Given the description of an element on the screen output the (x, y) to click on. 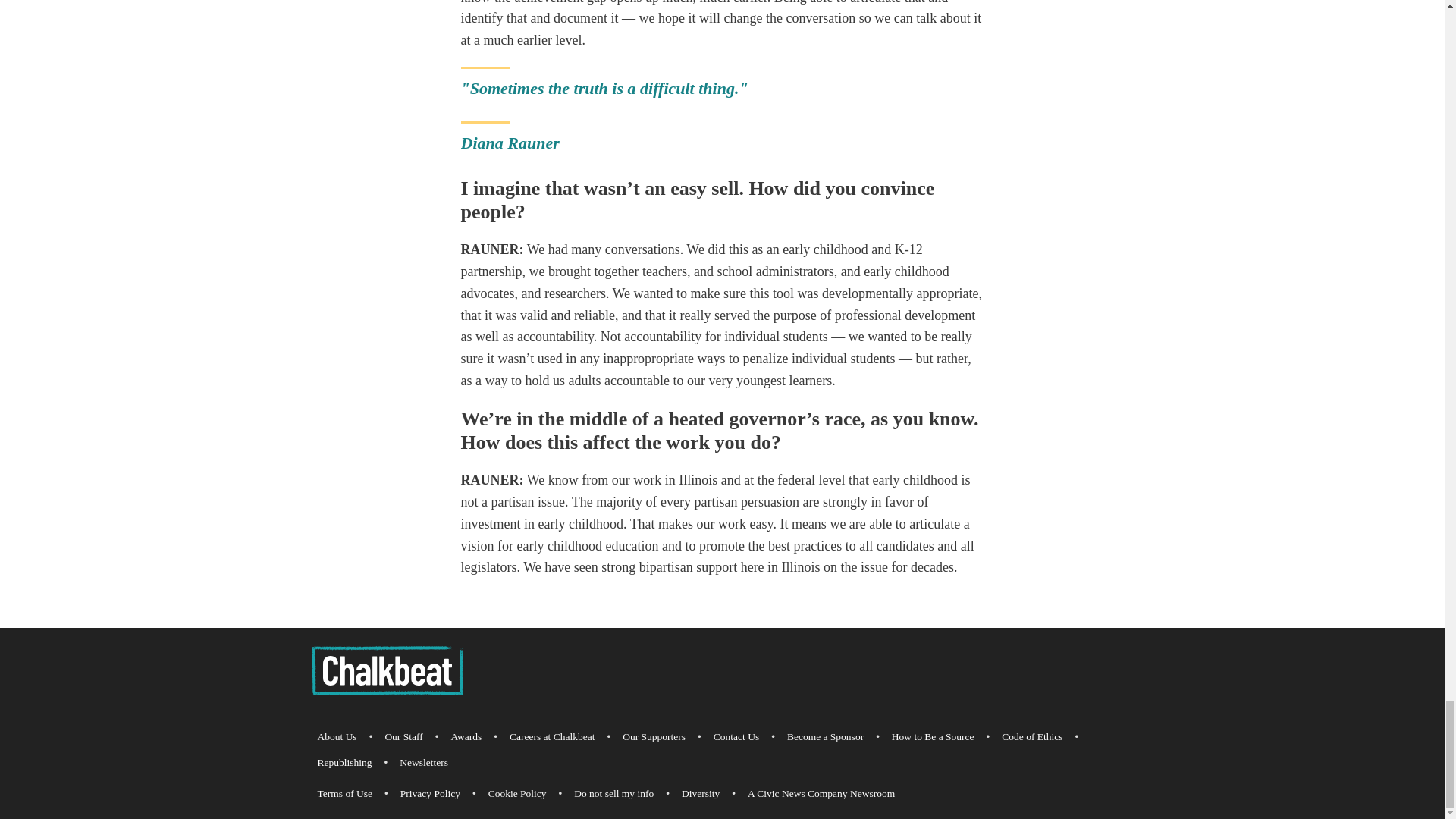
Our Staff (403, 736)
Become a Sponsor (824, 736)
Diversity (700, 793)
Awards (465, 736)
Do not sell my info (613, 793)
How to Be a Source (932, 736)
Cookie Policy (517, 793)
Our Supporters (653, 736)
Privacy Policy (429, 793)
Newsletters (423, 762)
